Given the description of an element on the screen output the (x, y) to click on. 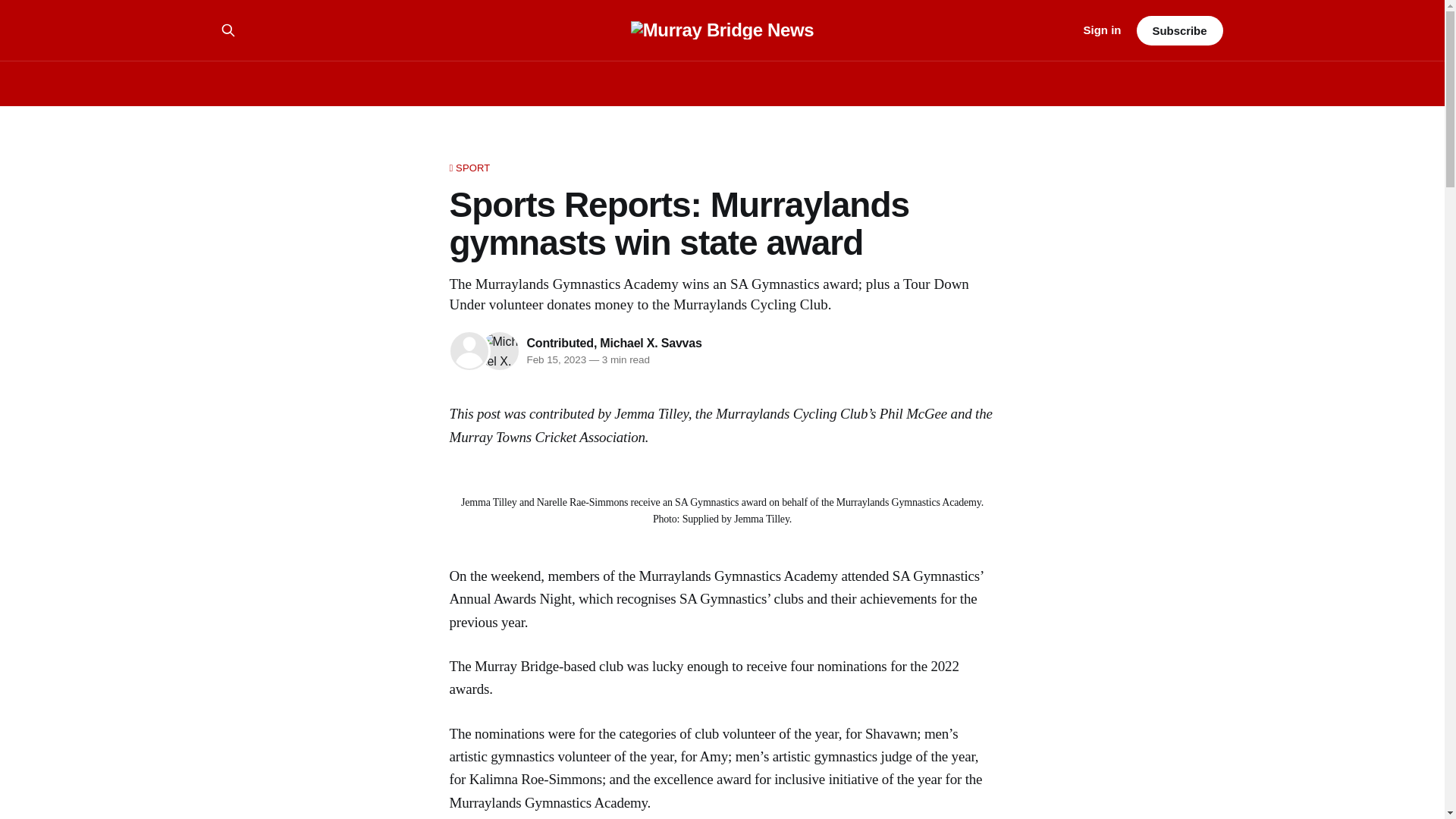
Subscribe (1179, 30)
Sign in (1102, 30)
Michael X. Savvas (650, 342)
Contributed (558, 342)
